Given the description of an element on the screen output the (x, y) to click on. 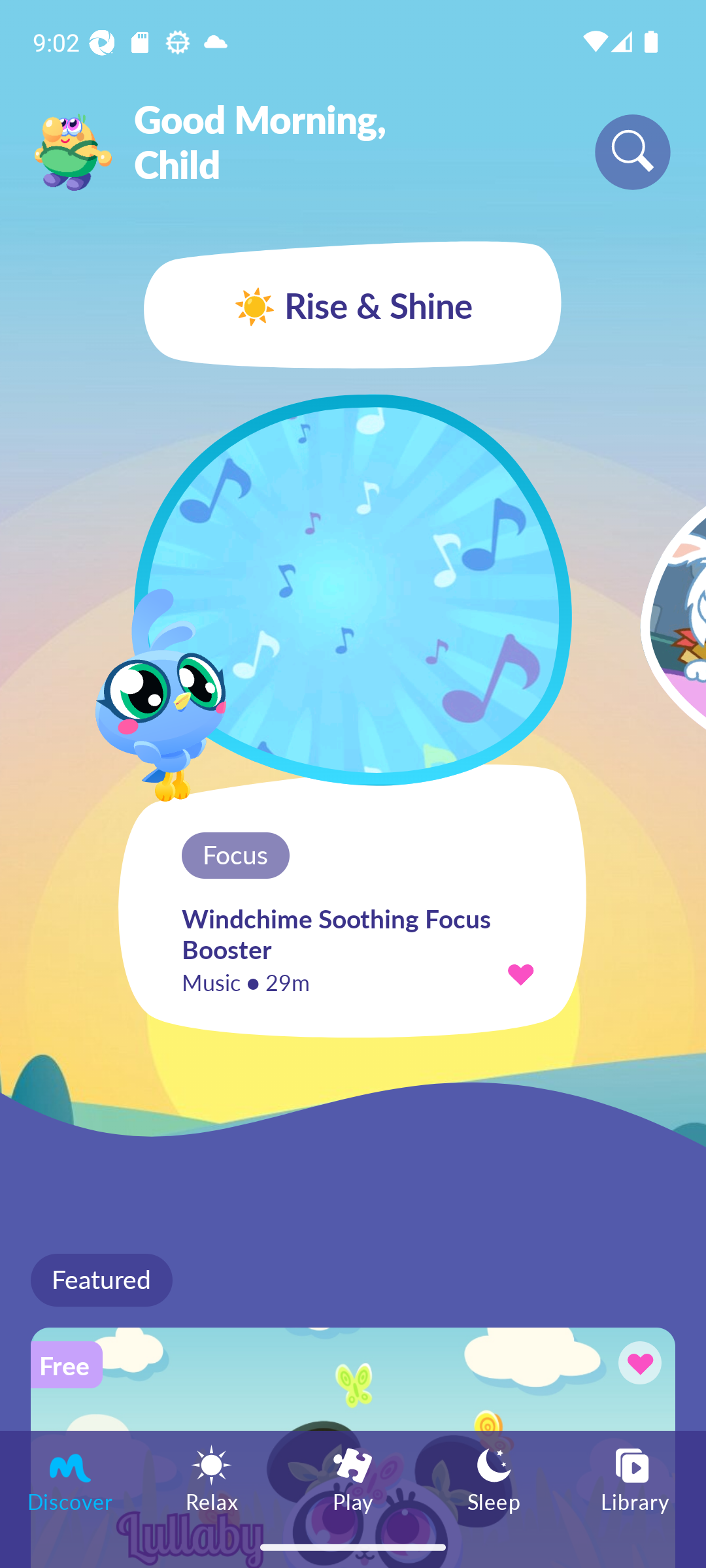
Search (632, 151)
action (520, 973)
Button (636, 1365)
Relax (211, 1478)
Play (352, 1478)
Sleep (493, 1478)
Library (635, 1478)
